Given the description of an element on the screen output the (x, y) to click on. 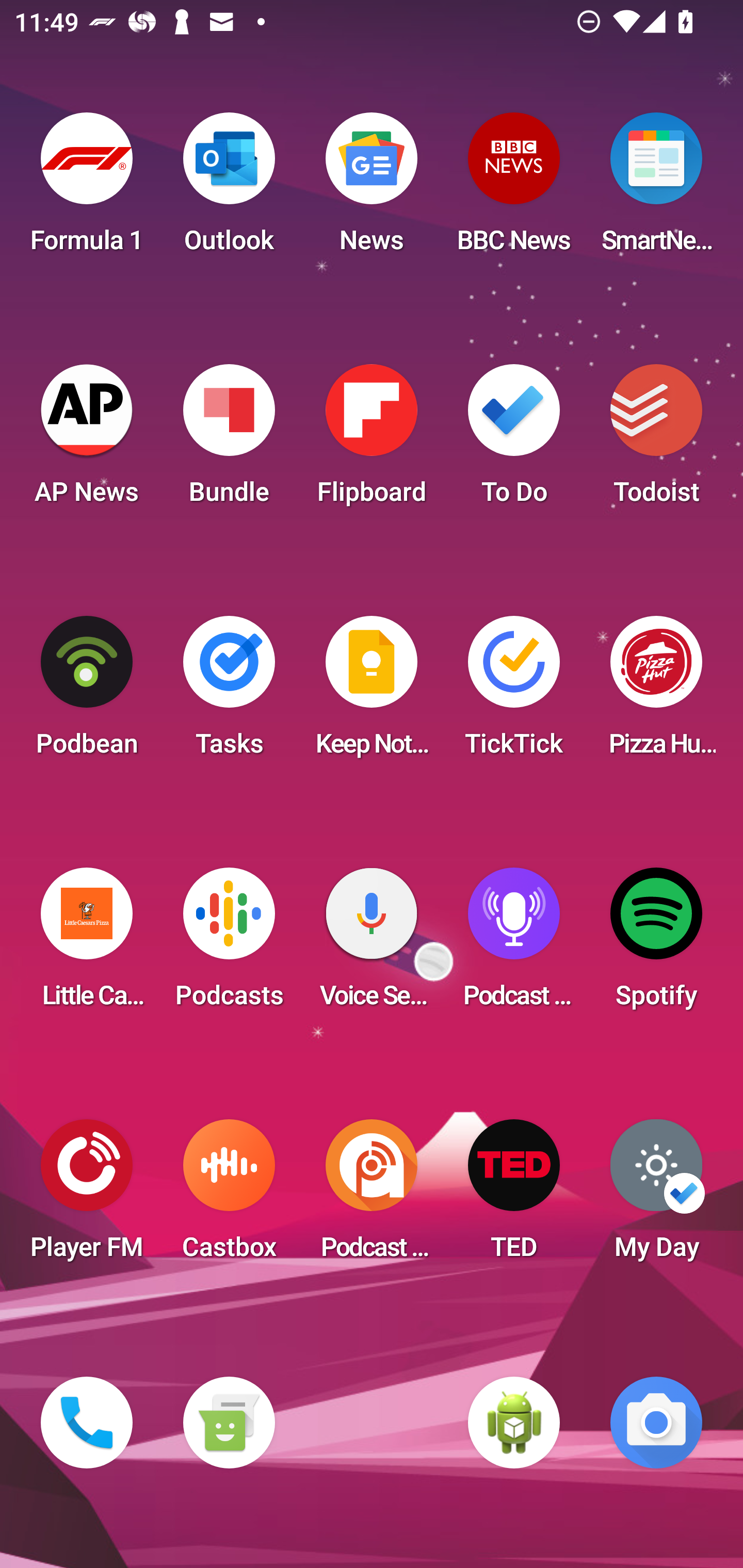
Formula 1 (86, 188)
Outlook (228, 188)
News (371, 188)
BBC News (513, 188)
SmartNews (656, 188)
AP News (86, 440)
Bundle (228, 440)
Flipboard (371, 440)
To Do (513, 440)
Todoist (656, 440)
Podbean (86, 692)
Tasks (228, 692)
Keep Notes (371, 692)
TickTick (513, 692)
Pizza Hut HK & Macau (656, 692)
Little Caesars Pizza (86, 943)
Podcasts (228, 943)
Voice Search (371, 943)
Podcast Player (513, 943)
Spotify (656, 943)
Player FM (86, 1195)
Castbox (228, 1195)
Podcast Addict (371, 1195)
TED (513, 1195)
My Day (656, 1195)
Phone (86, 1422)
Messaging (228, 1422)
WebView Browser Tester (513, 1422)
Camera (656, 1422)
